Given the description of an element on the screen output the (x, y) to click on. 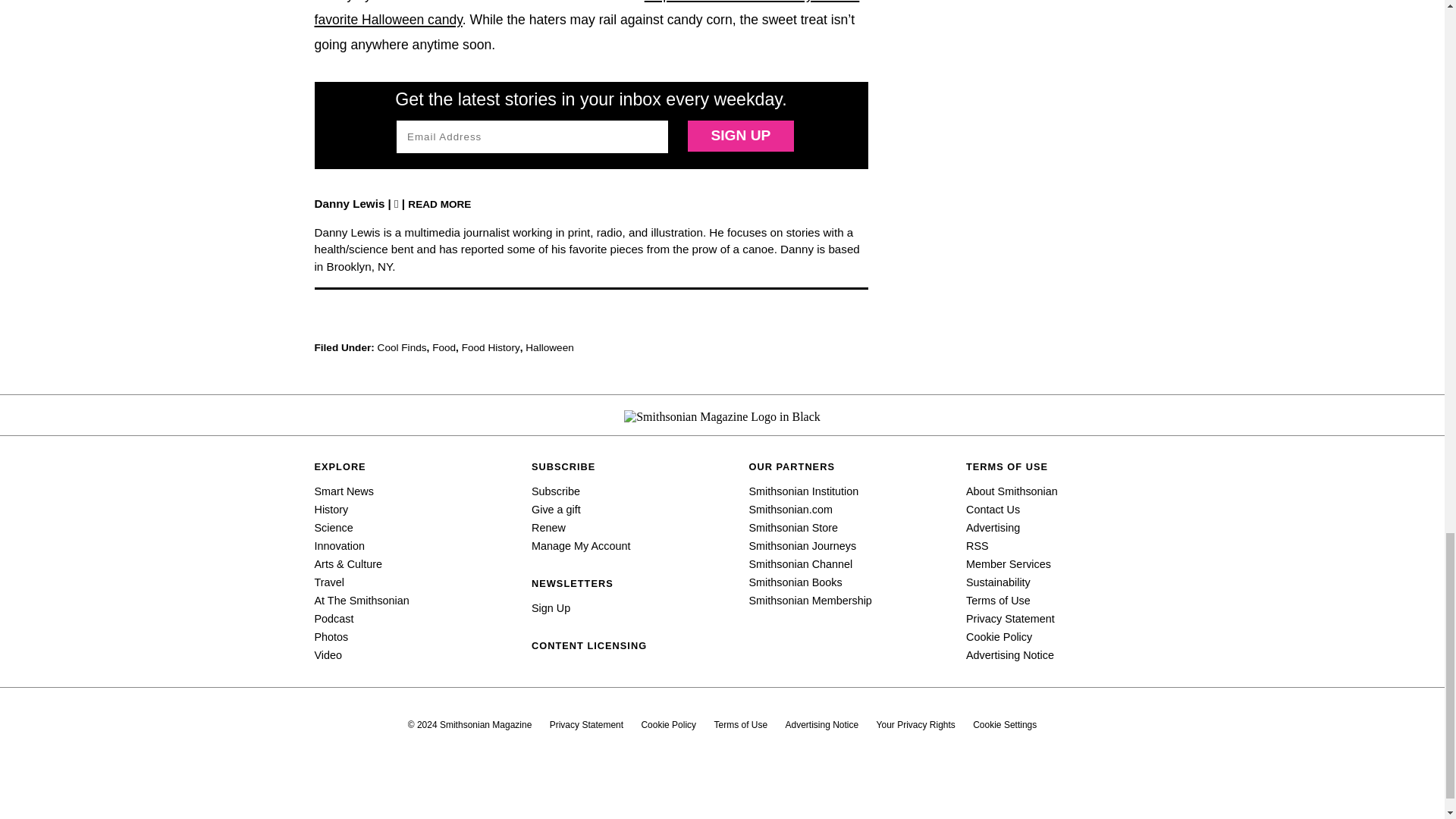
Read more from this author (438, 203)
Sign Up (740, 135)
